Given the description of an element on the screen output the (x, y) to click on. 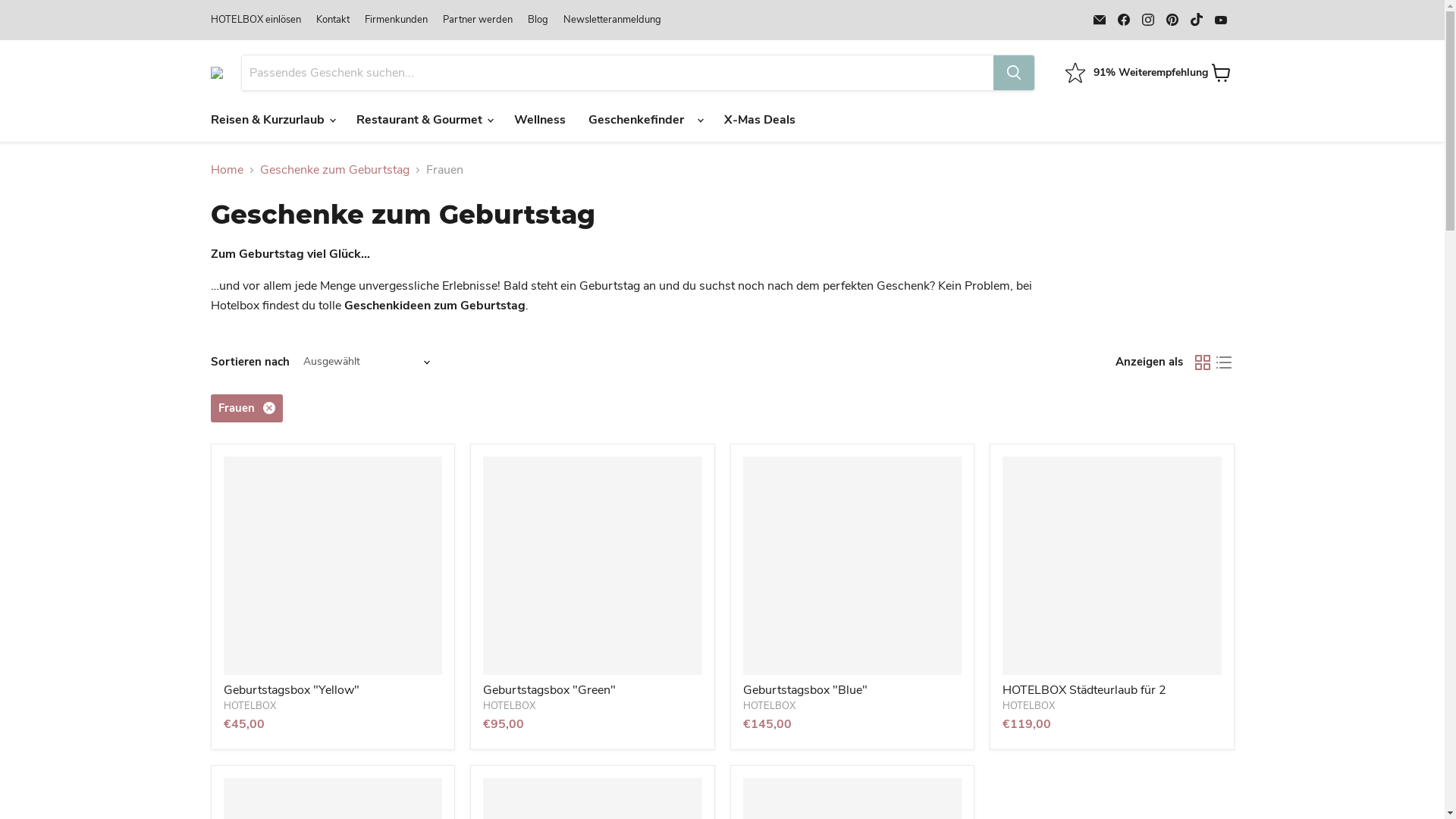
Geburtstagsbox "Green" Element type: text (549, 689)
Geburtstagsbox "Blue" Element type: text (805, 689)
Wellness Element type: text (539, 119)
HOTELBOX Element type: text (509, 705)
Partner werden Element type: text (477, 19)
Geschenke zum Geburtstag Element type: text (333, 169)
HOTELBOX Element type: text (1028, 705)
Finde uns auf Pinterest Element type: text (1172, 19)
Geburtstagsbox "Yellow" Element type: text (290, 689)
Newsletteranmeldung Element type: text (611, 19)
Finde uns auf Instagram Element type: text (1147, 19)
Blog Element type: text (537, 19)
Home Element type: text (226, 169)
Finde uns auf Facebook Element type: text (1123, 19)
Email HOTELBOX Element type: text (1099, 19)
91% Weiterempfehlung Element type: text (1136, 72)
Frauen
Filter entfernen Element type: text (246, 408)
Finde uns auf YouTube Element type: text (1220, 19)
Kontakt Element type: text (331, 19)
Finde uns auf TikTok Element type: text (1196, 19)
HOTELBOX Element type: text (769, 705)
Firmenkunden Element type: text (395, 19)
Warenkorb anzeigen Element type: text (1221, 72)
HOTELBOX Element type: text (248, 705)
